Given the description of an element on the screen output the (x, y) to click on. 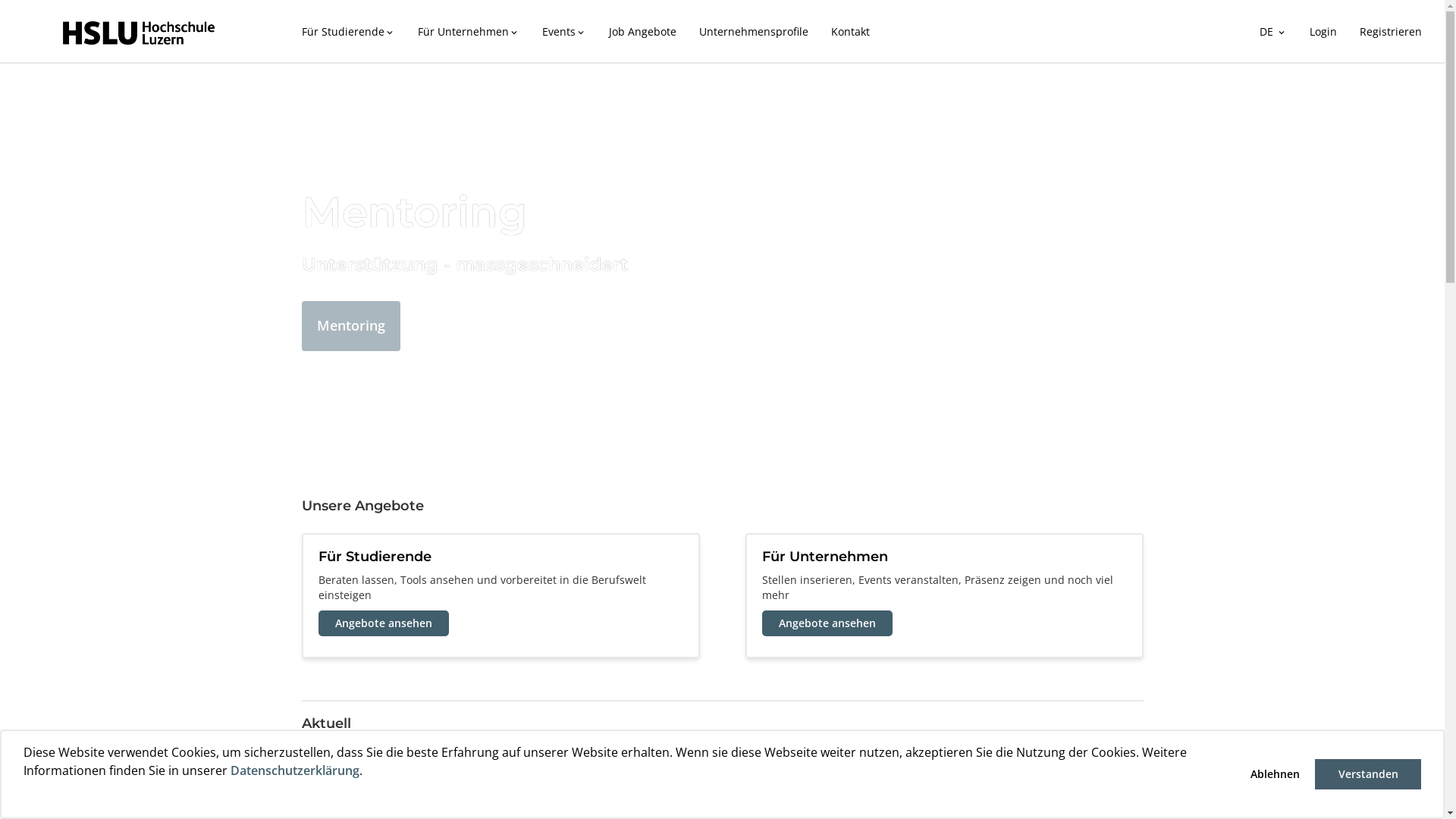
Angebote ansehen Element type: text (826, 623)
Angebote ansehen Element type: text (383, 623)
Eventsexpand_more Element type: text (563, 31)
Unternehmensprofile Element type: text (753, 31)
DE expand_more Element type: text (1273, 31)
Ablehnen Element type: text (1274, 774)
HSLU - Careers Service Element type: hover (137, 32)
Login Element type: text (1323, 31)
Kontakt Element type: text (849, 31)
Registrieren Element type: text (1390, 31)
Job Angebote Element type: text (642, 31)
Verstanden Element type: text (1367, 774)
